Given the description of an element on the screen output the (x, y) to click on. 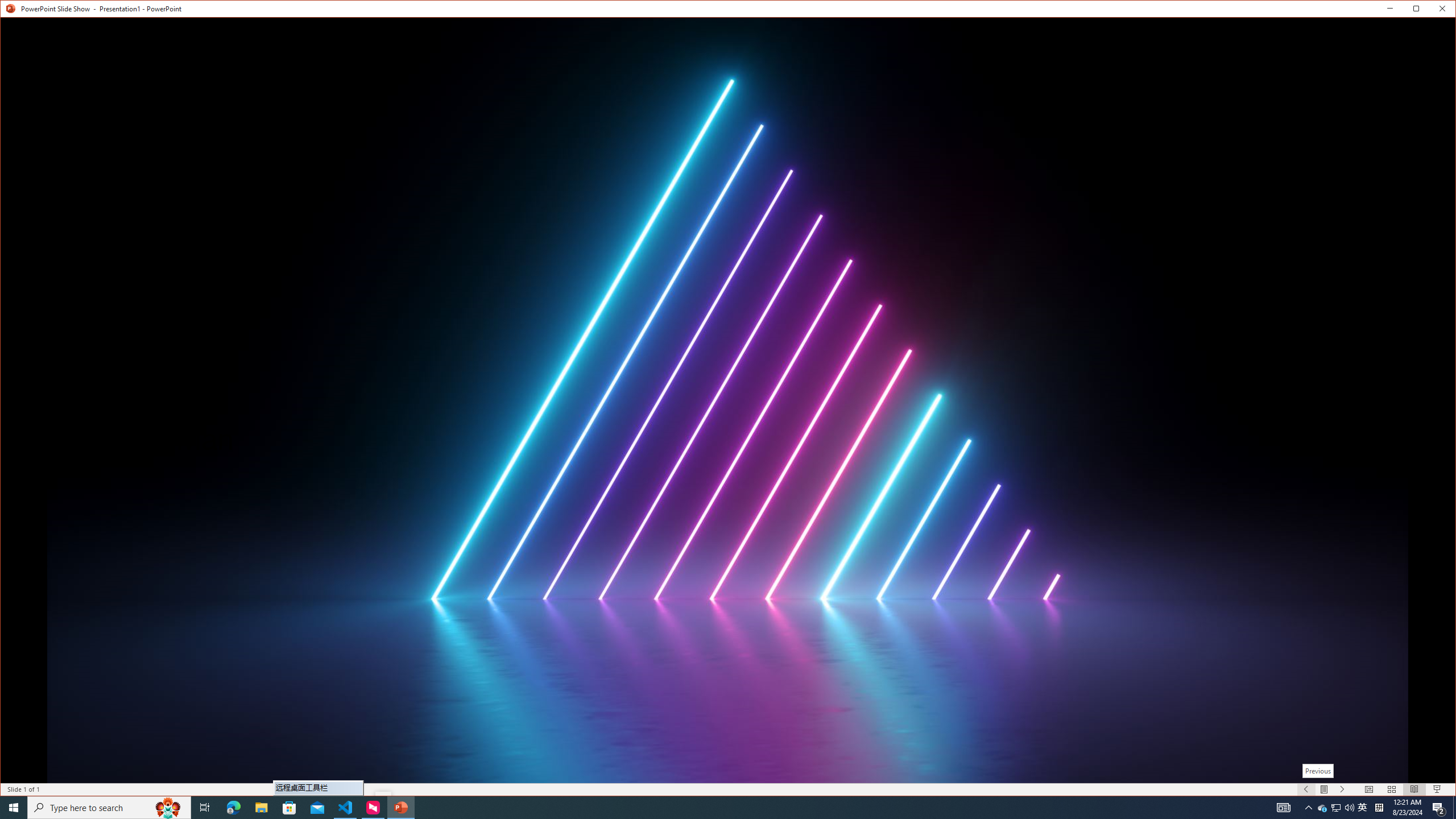
Search highlights icon opens search home window (1362, 807)
Microsoft Store (167, 807)
Action Center, 2 new notifications (289, 807)
PowerPoint - 1 running window (1322, 807)
Q2790: 100% (1439, 807)
Class: MsoCommandBar (400, 807)
Menu On (1349, 807)
